Given the description of an element on the screen output the (x, y) to click on. 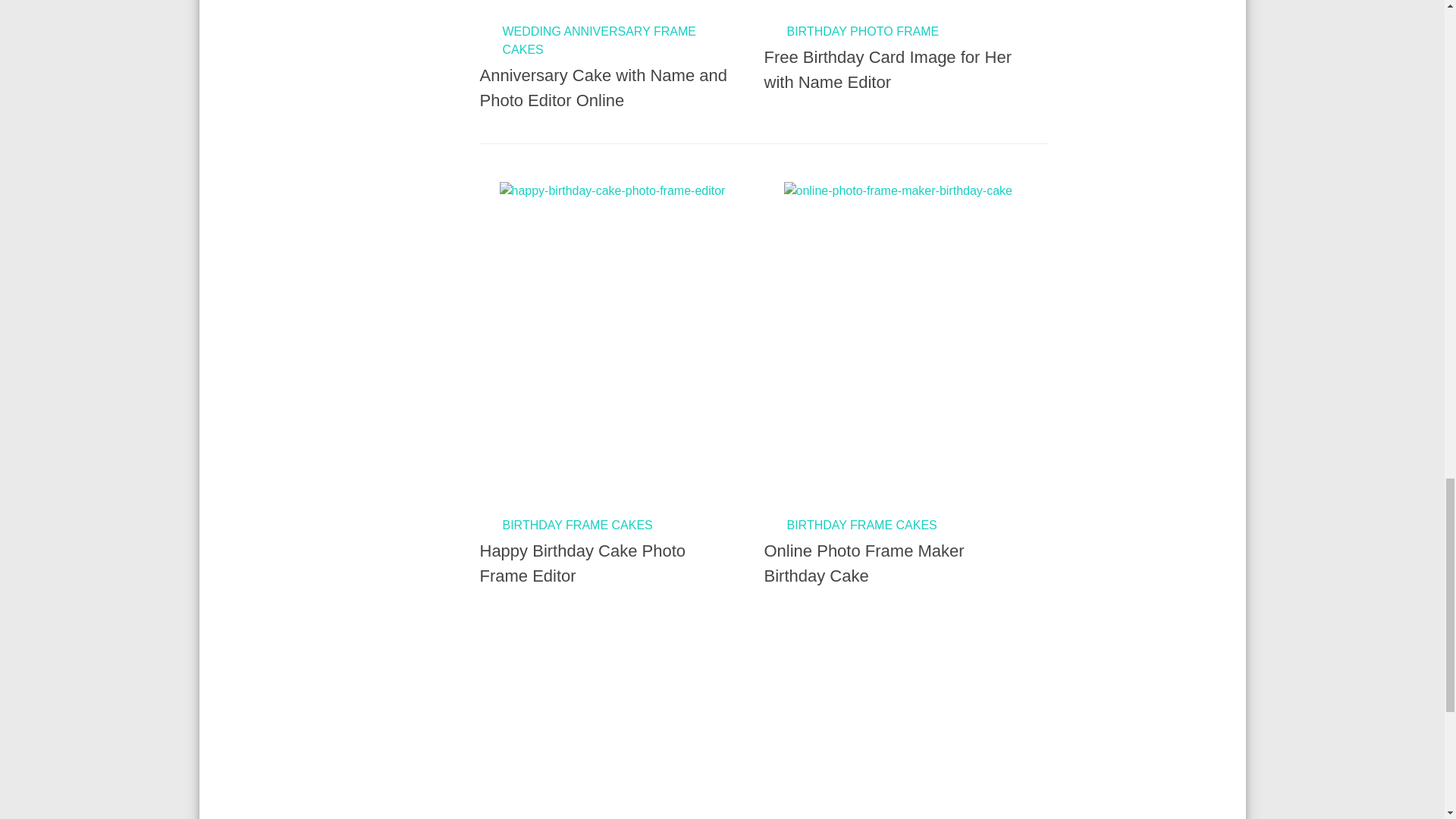
Happy Birthday Cake Photo Frame Editor (582, 563)
Anniversary Cake with Name and Photo Editor Online (602, 87)
Free Birthday Card Image for Her with Name Editor (887, 69)
BIRTHDAY FRAME CAKES (862, 524)
Permalink to Happy Birthday Cake Photo Frame Editor (594, 335)
BIRTHDAY FRAME CAKES (577, 524)
Online Photo Frame Maker Birthday Cake (863, 563)
BIRTHDAY PHOTO FRAME (863, 31)
WEDDING ANNIVERSARY FRAME CAKES (598, 40)
